Given the description of an element on the screen output the (x, y) to click on. 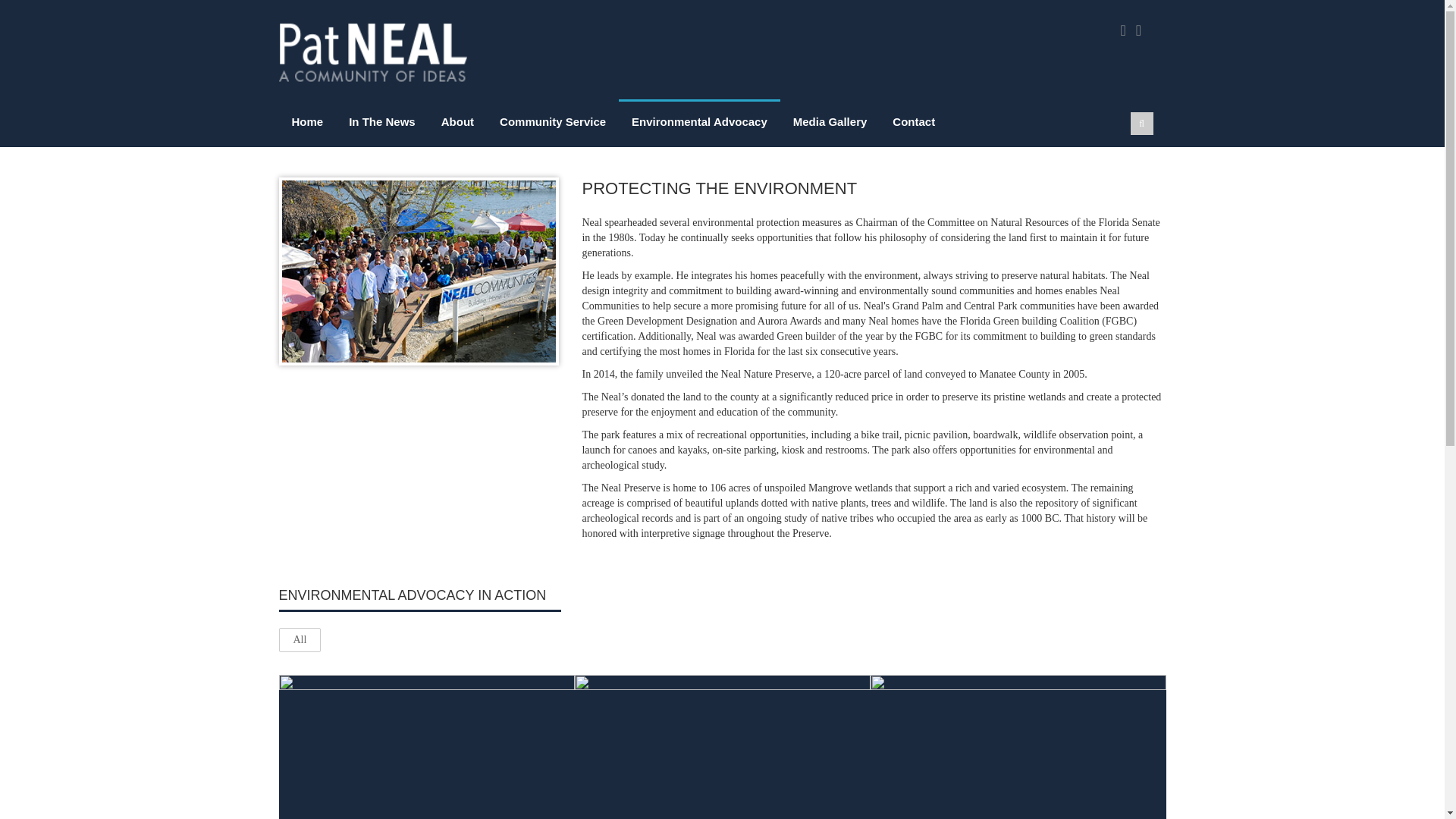
In The News (382, 120)
About (457, 120)
Community Service (552, 120)
All (300, 639)
Environmental Advocacy (699, 120)
Media Gallery (830, 120)
Contact (913, 120)
Home (307, 120)
